Given the description of an element on the screen output the (x, y) to click on. 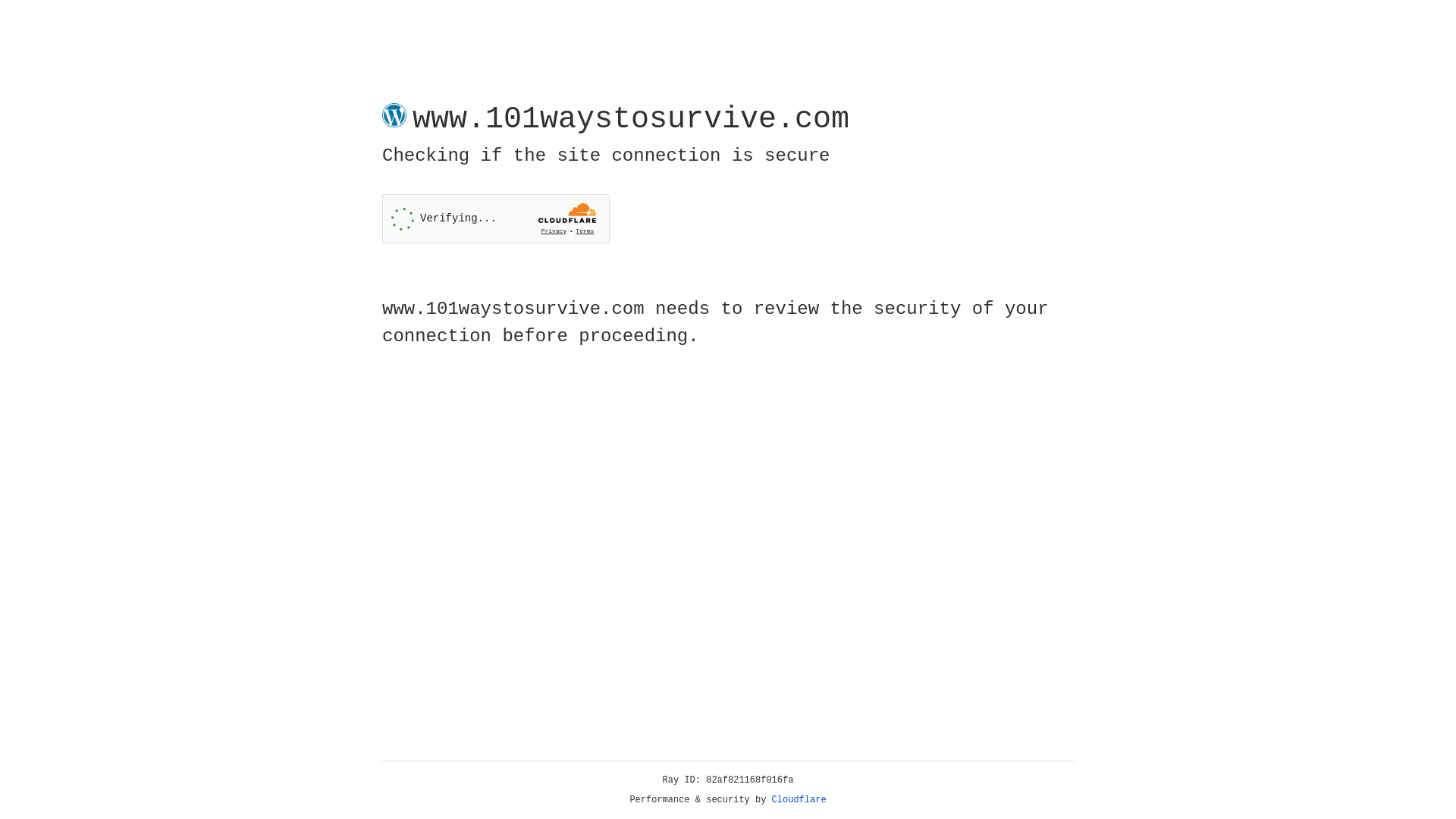
Cloudflare Element type: text (798, 799)
Widget containing a Cloudflare security challenge Element type: hover (495, 218)
